Given the description of an element on the screen output the (x, y) to click on. 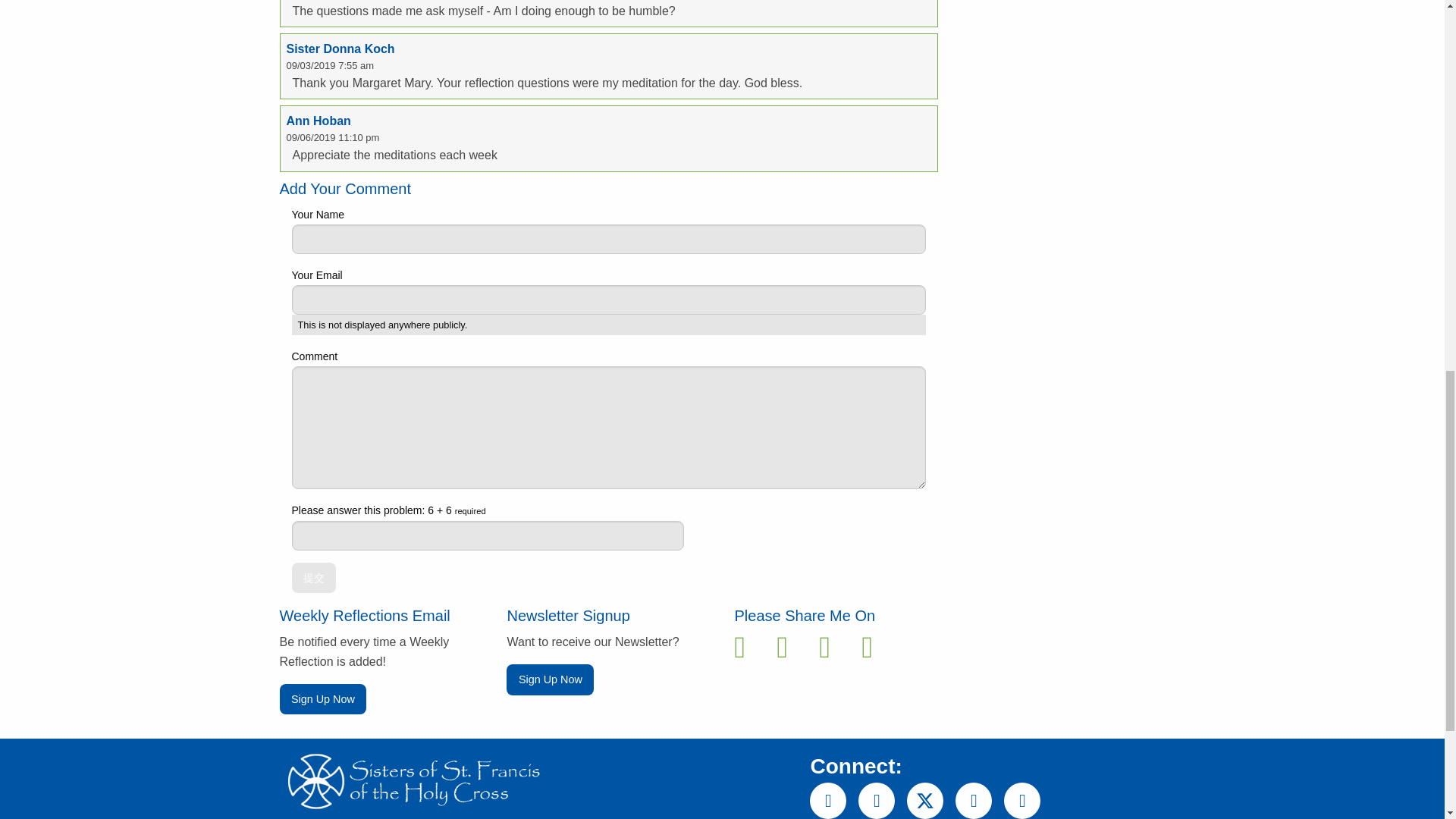
Green Bay Franciscans (411, 781)
